Given the description of an element on the screen output the (x, y) to click on. 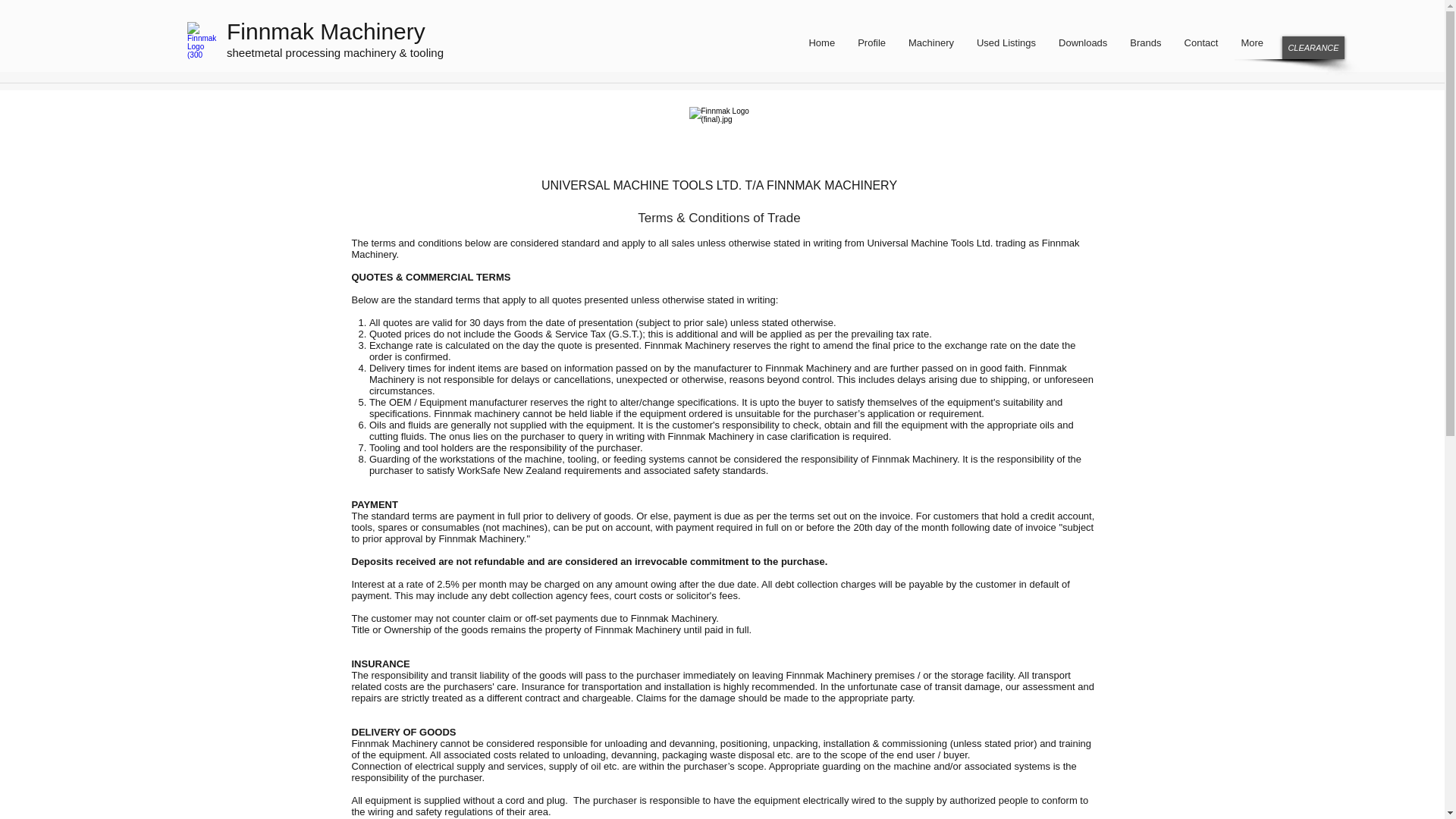
Downloads (1082, 47)
Contact (1201, 47)
Home (820, 47)
Machinery (930, 47)
Brands (1145, 47)
Used Listings (1005, 47)
CLEARANCE (1312, 47)
Profile (870, 47)
